Given the description of an element on the screen output the (x, y) to click on. 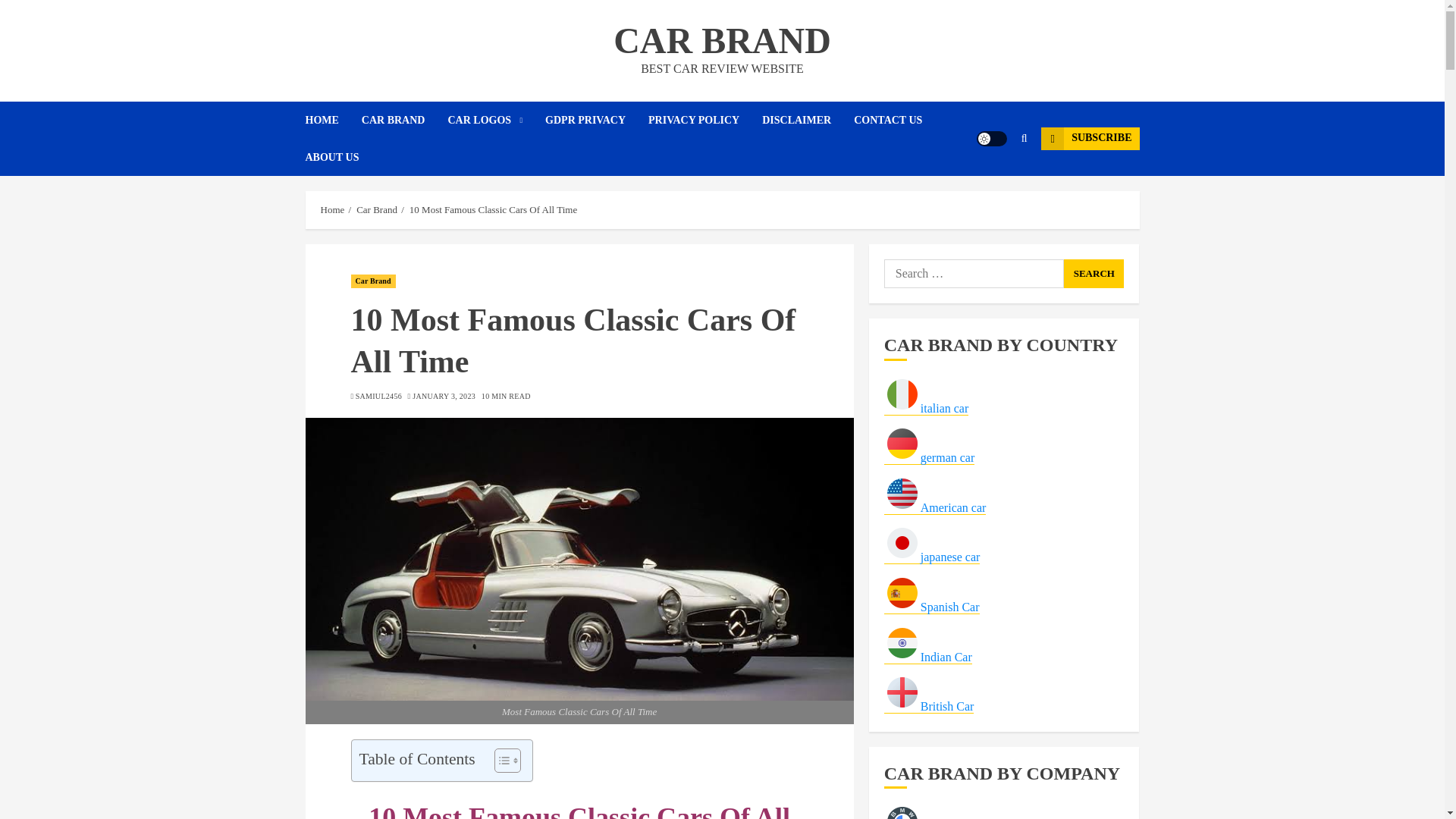
DISCLAIMER (807, 119)
ABOUT US (331, 157)
Home (331, 209)
CAR BRAND (404, 119)
10 Most Famous Classic Cars Of All Time (492, 209)
HOME (332, 119)
Search (1094, 273)
CAR BRAND (721, 40)
Car Brand (372, 281)
GDPR PRIVACY (595, 119)
SAMIUL2456 (378, 396)
PRIVACY POLICY (704, 119)
CONTACT US (898, 119)
CAR LOGOS (495, 119)
JANUARY 3, 2023 (444, 396)
